Given the description of an element on the screen output the (x, y) to click on. 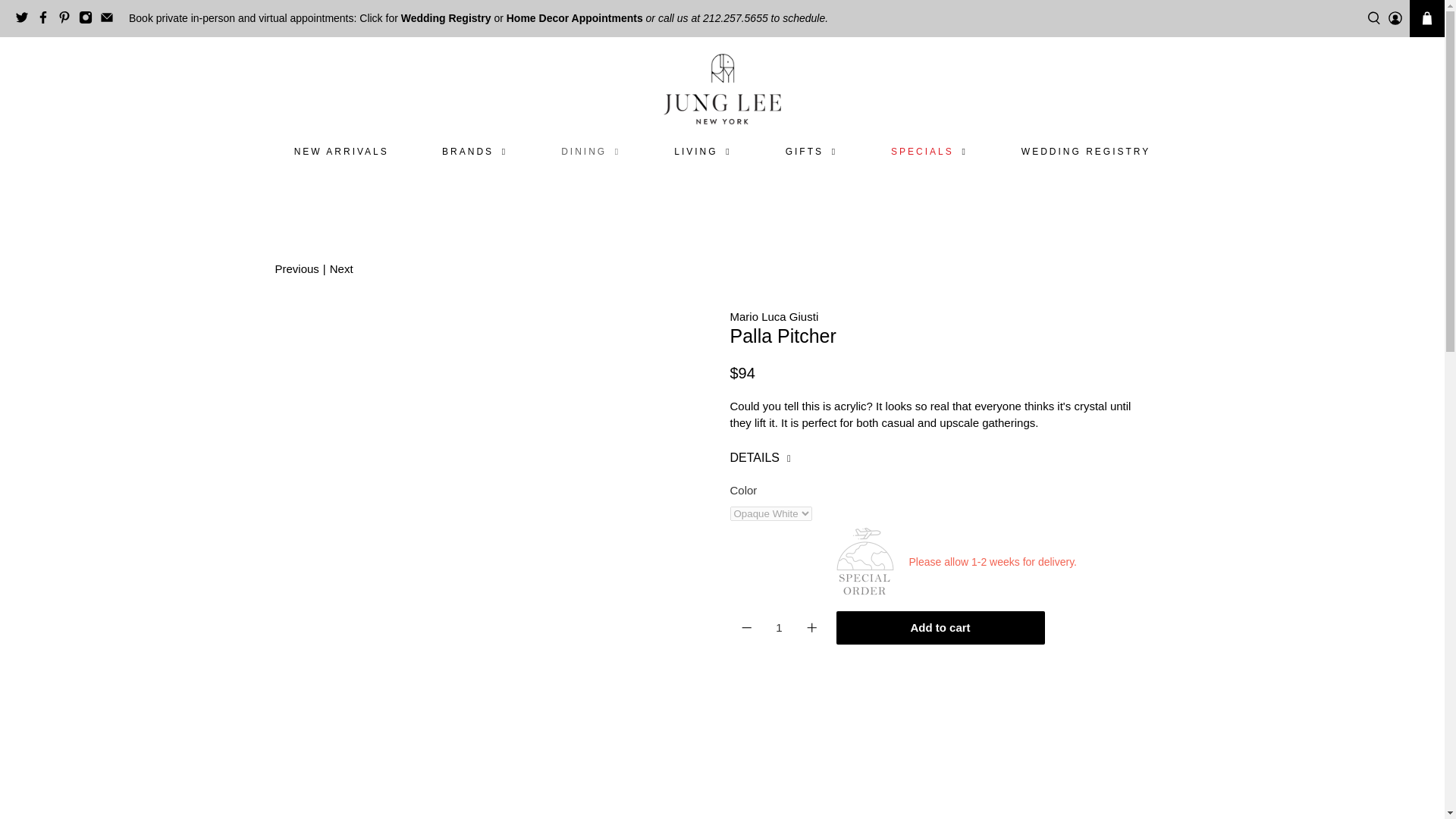
Jung Lee NY on Instagram (89, 20)
Next (341, 269)
Jung Lee NY on Twitter (25, 20)
Email Jung Lee NY (110, 20)
NEW ARRIVALS (341, 151)
BRANDS (474, 151)
Wedding Registry (446, 18)
Mario Luca Giusti (773, 316)
1 (778, 627)
Home Decor Appointments (574, 18)
Jung Lee NY on Facebook (47, 20)
Jung Lee NY on Pinterest (68, 20)
Previous (296, 269)
Jung Lee NY (722, 88)
